Given the description of an element on the screen output the (x, y) to click on. 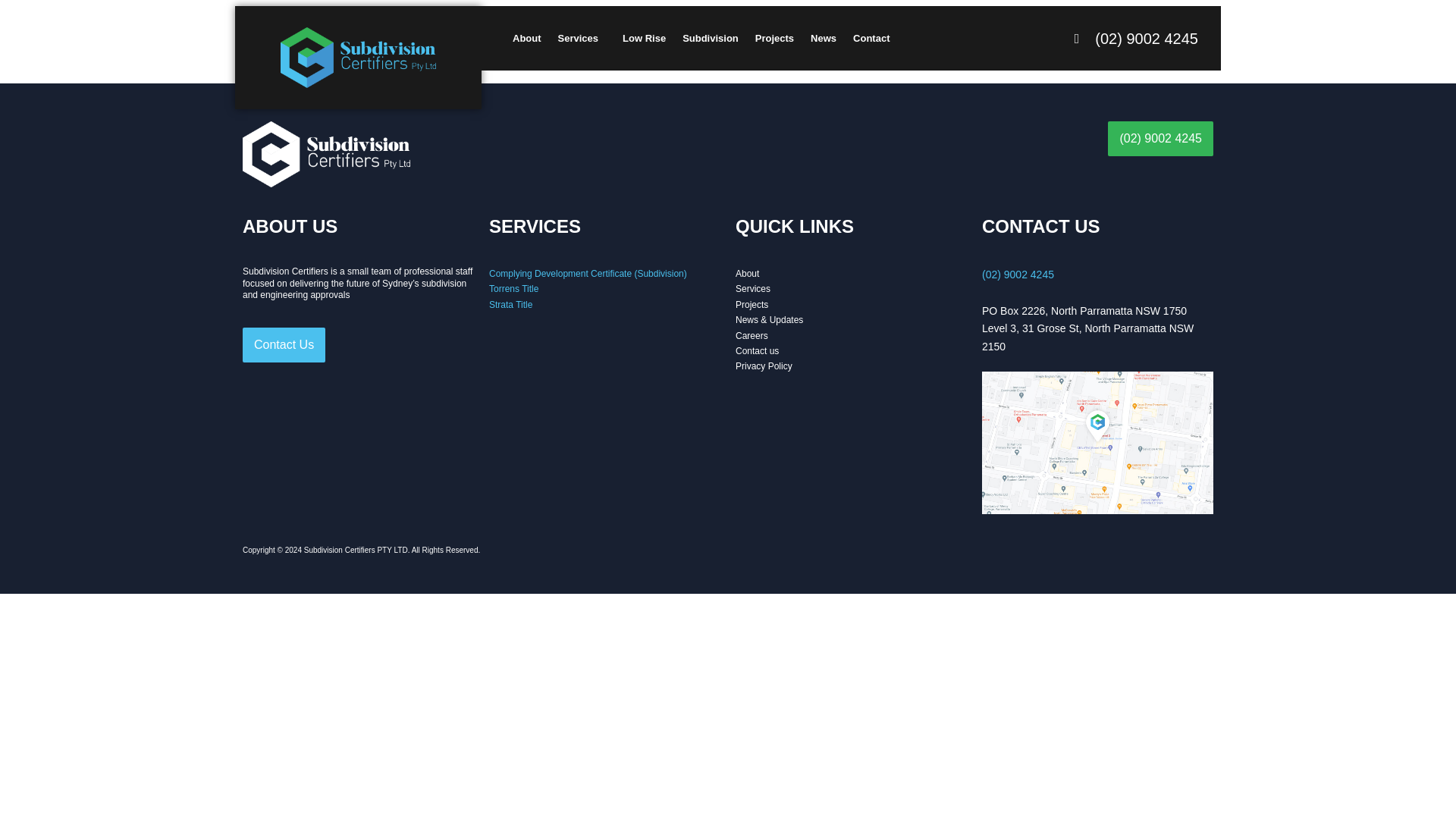
Projects (751, 304)
Contact us (756, 350)
Subdivision (710, 37)
About (746, 273)
Contact Us (283, 344)
Contact (871, 37)
Torrens Title (513, 288)
About (526, 37)
Services (752, 288)
News (823, 37)
Projects (774, 37)
Low Rise (644, 37)
Strata Title (510, 304)
Services (582, 37)
